Given the description of an element on the screen output the (x, y) to click on. 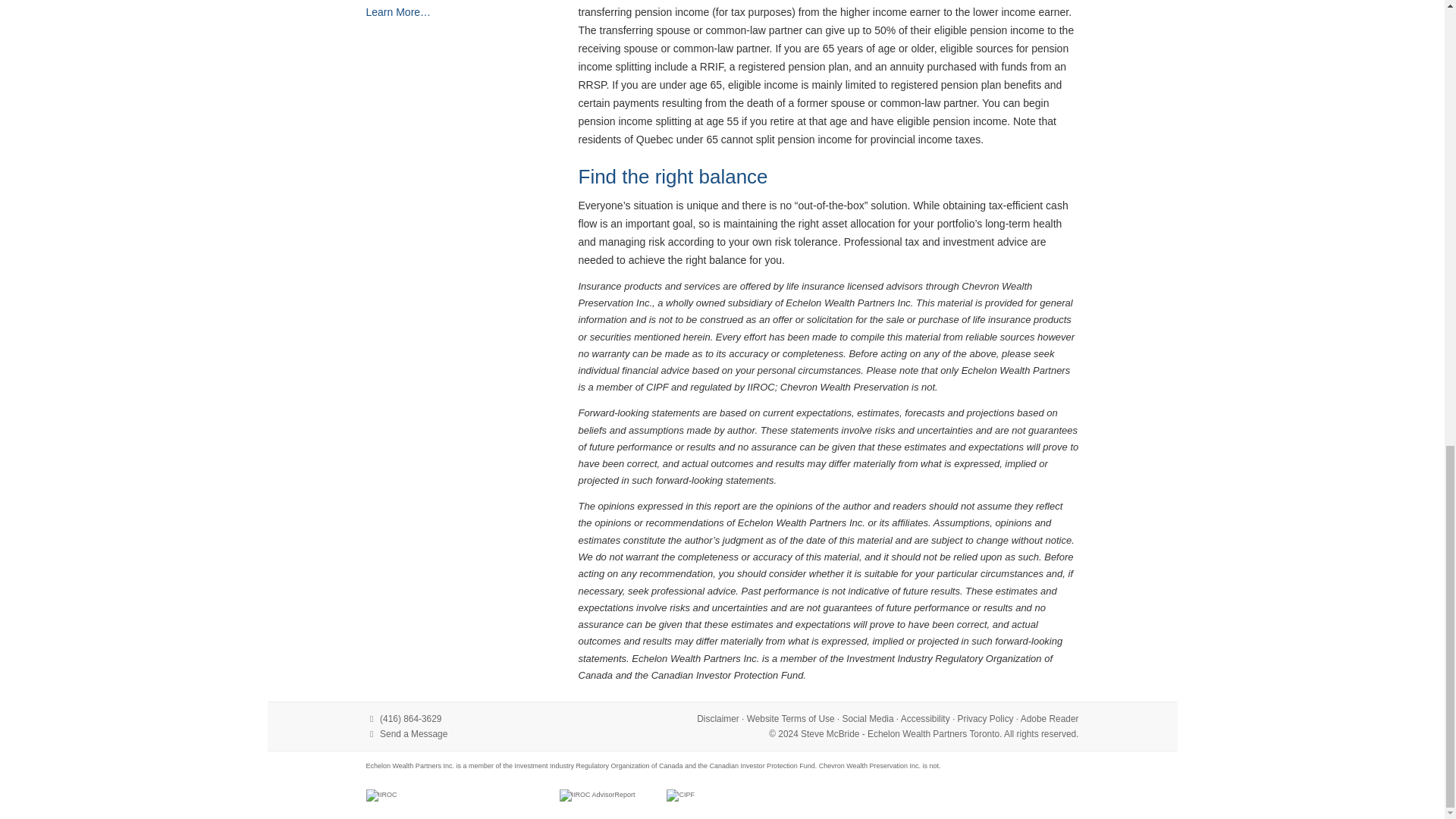
Disclaimer (718, 718)
Privacy Policy (985, 718)
Accessibility (925, 718)
Website Terms of Use (790, 718)
Adobe Reader (1049, 718)
Send a Message (413, 733)
Social Media (867, 718)
